Given the description of an element on the screen output the (x, y) to click on. 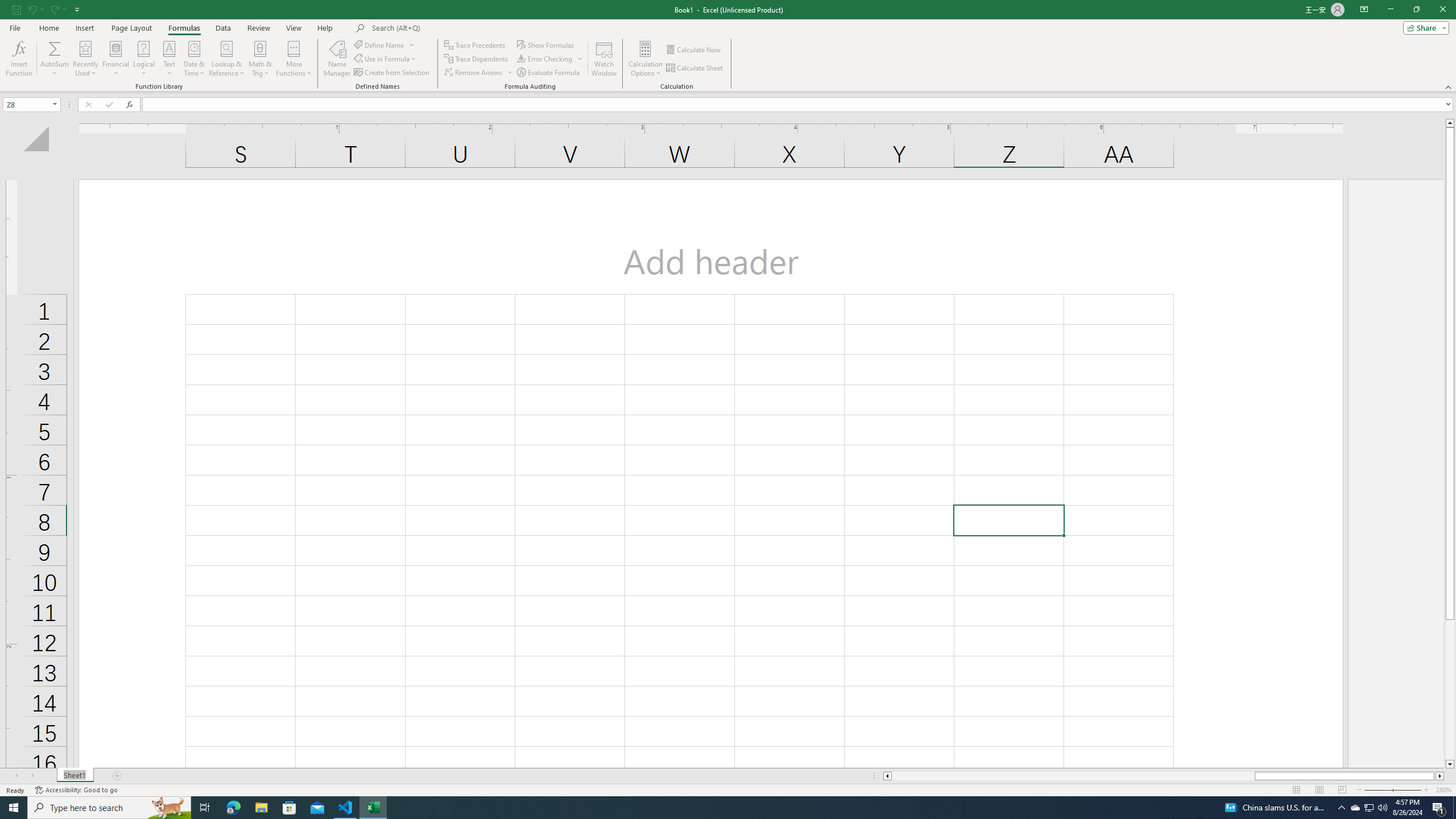
Error Checking... (545, 58)
Remove Arrows (474, 72)
Page left (1073, 775)
Lookup & Reference (227, 58)
Trace Dependents (477, 58)
Logical (143, 58)
